Given the description of an element on the screen output the (x, y) to click on. 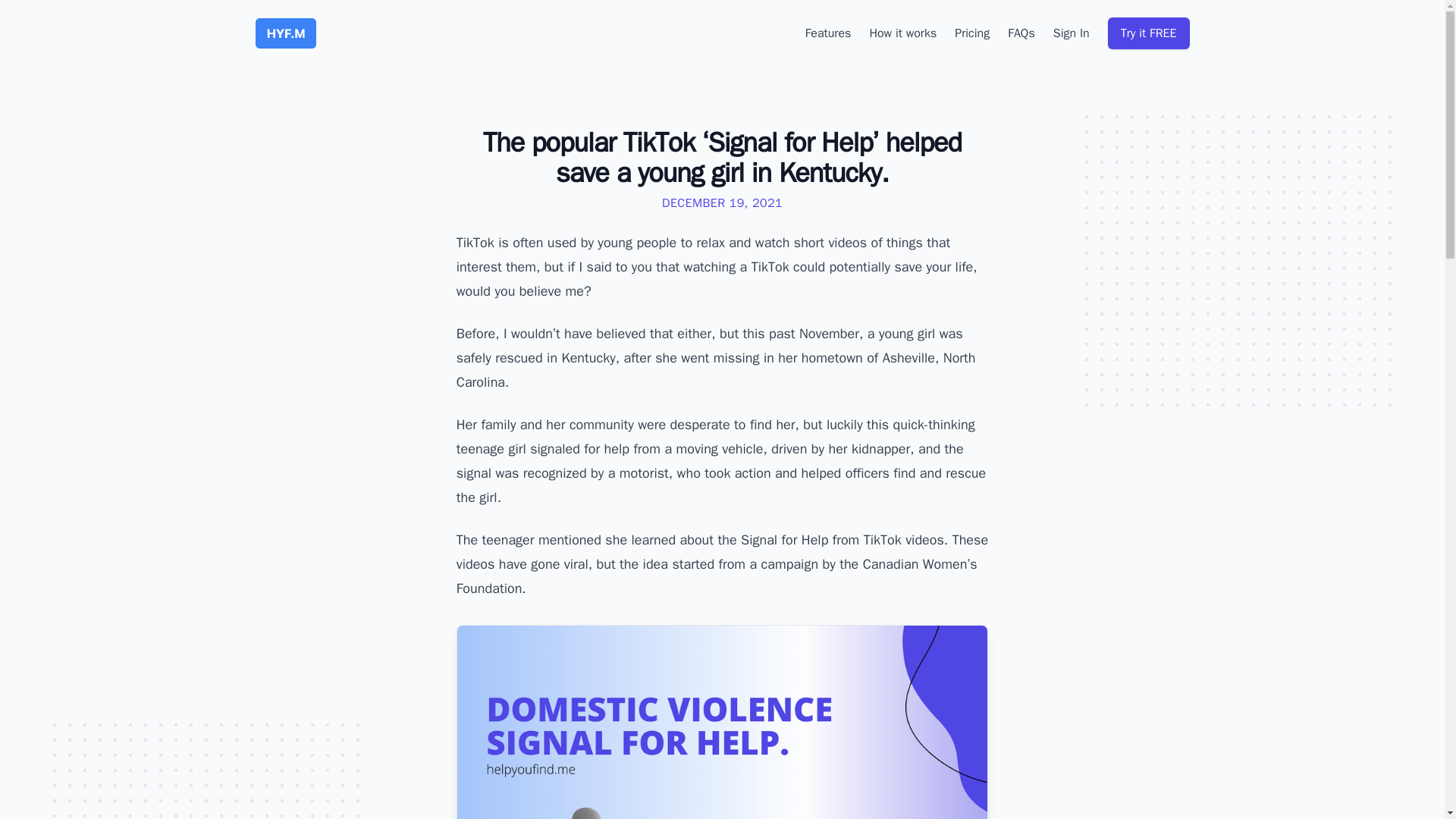
How it works (902, 33)
HelpYouFind.Me (284, 33)
Pricing (972, 33)
Features (828, 33)
Sign In (1070, 33)
FAQs (1020, 33)
Try it FREE (1148, 33)
